Given the description of an element on the screen output the (x, y) to click on. 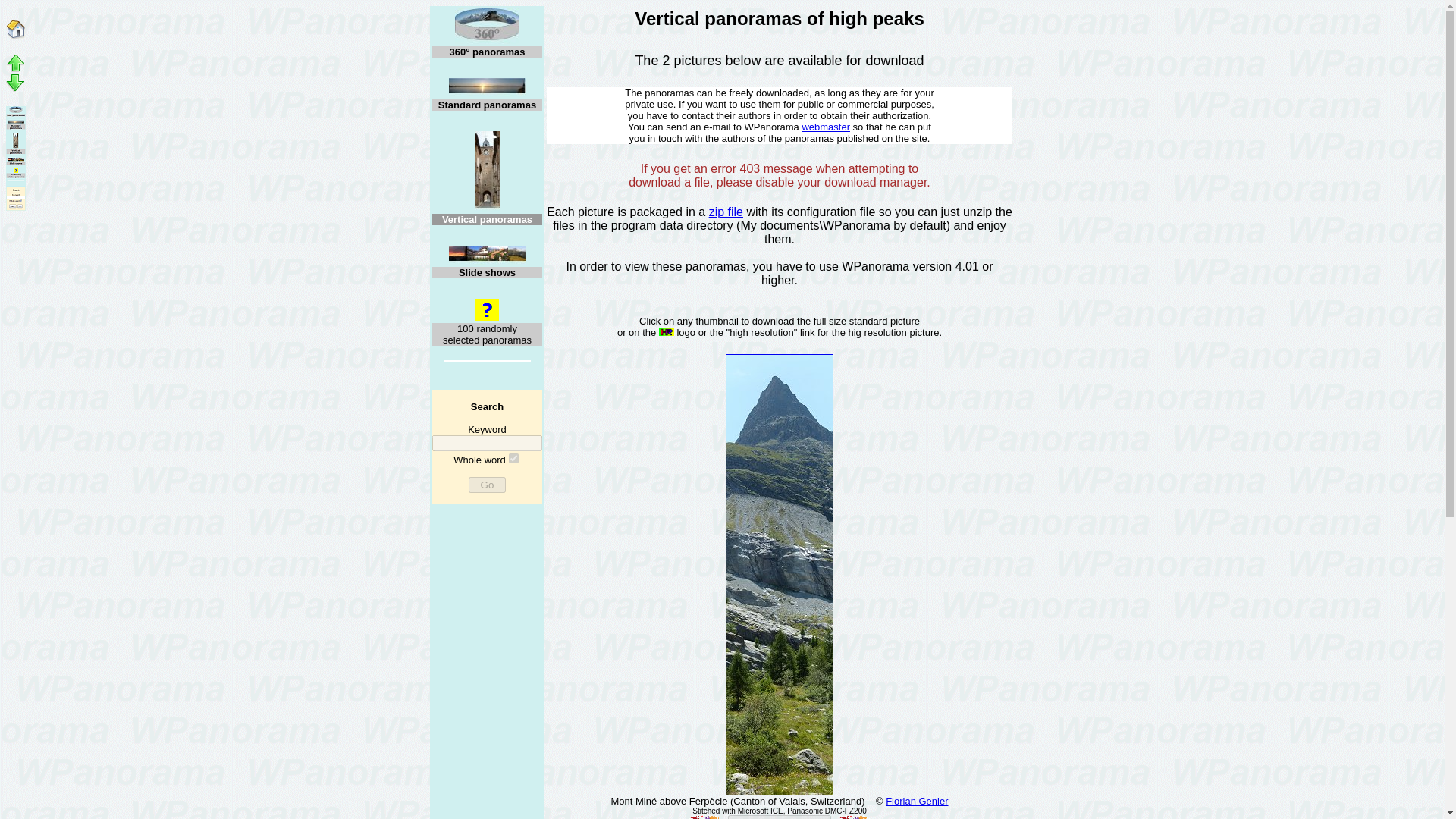
webmaster (826, 126)
  Go   (486, 484)
Florian Genier (916, 800)
Location on the map (779, 816)
Back to homepage (15, 34)
Bottom of page (15, 88)
The 64 panoramas by Florian Genier (916, 800)
Slide shows (486, 254)
Top of page (15, 68)
zip file (725, 211)
